Given the description of an element on the screen output the (x, y) to click on. 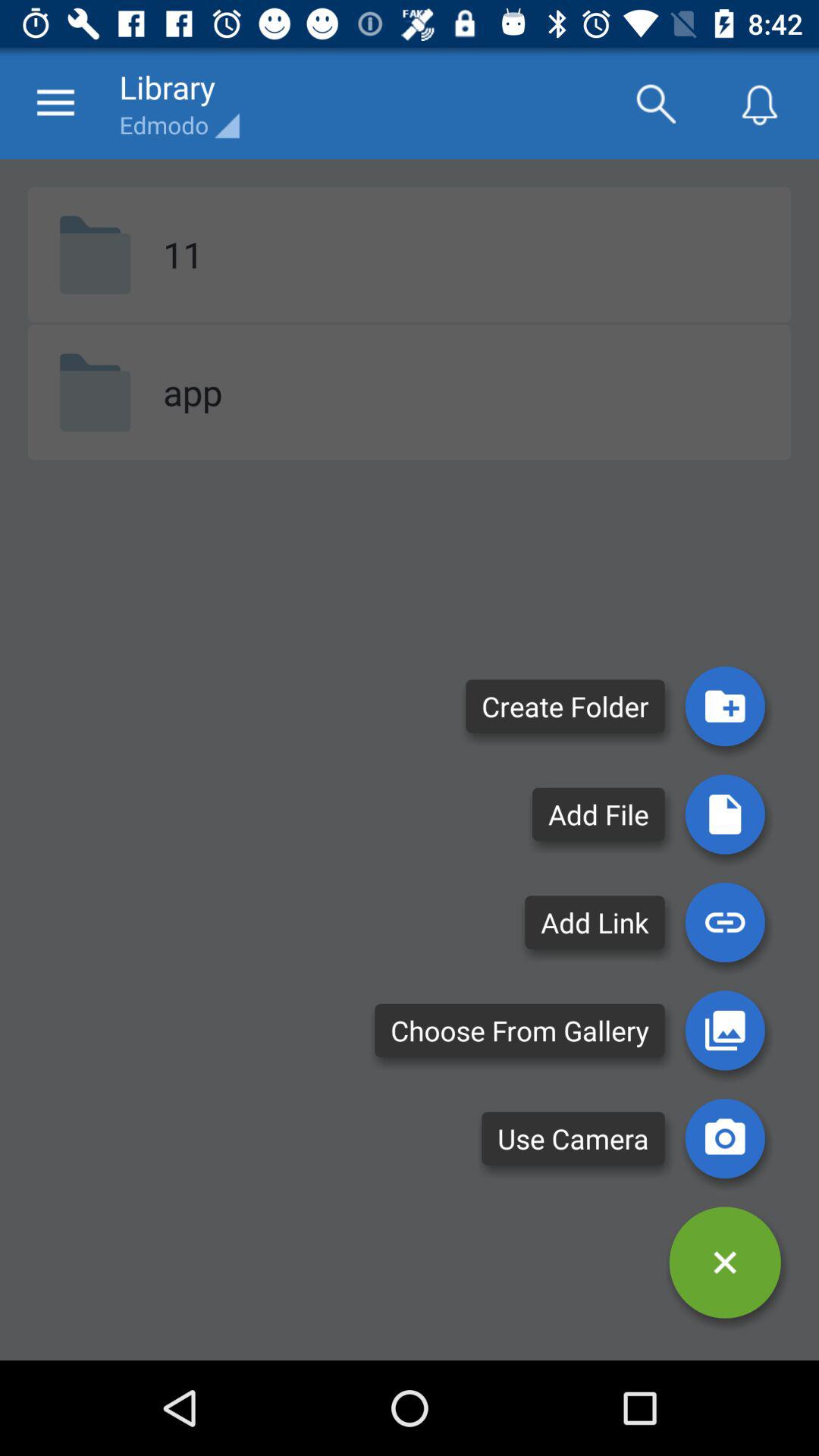
create folder option (725, 706)
